Given the description of an element on the screen output the (x, y) to click on. 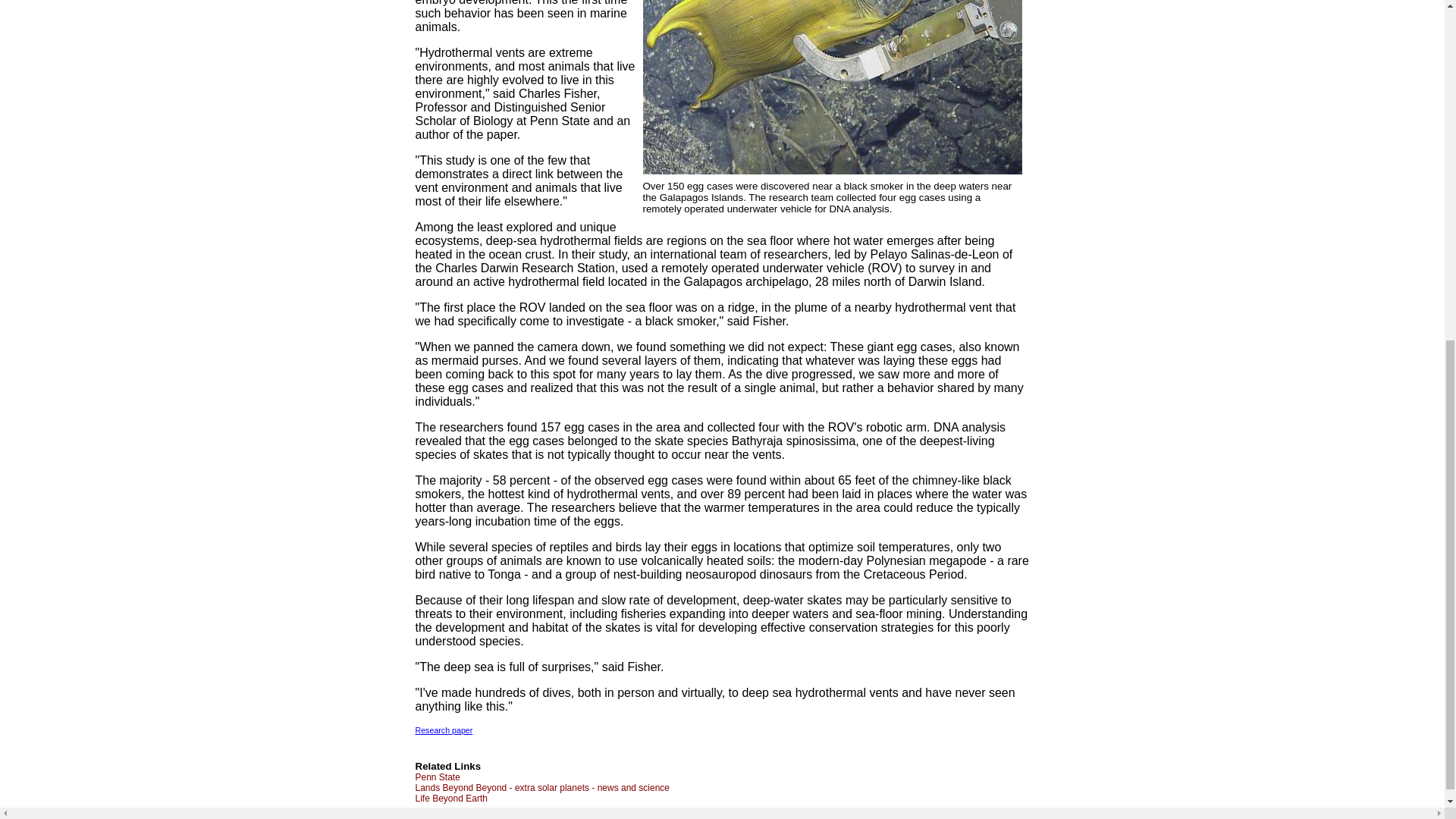
Research paper (443, 729)
Penn State (437, 777)
Lands Beyond Beyond - extra solar planets - news and science (541, 787)
Life Beyond Earth (450, 798)
